Given the description of an element on the screen output the (x, y) to click on. 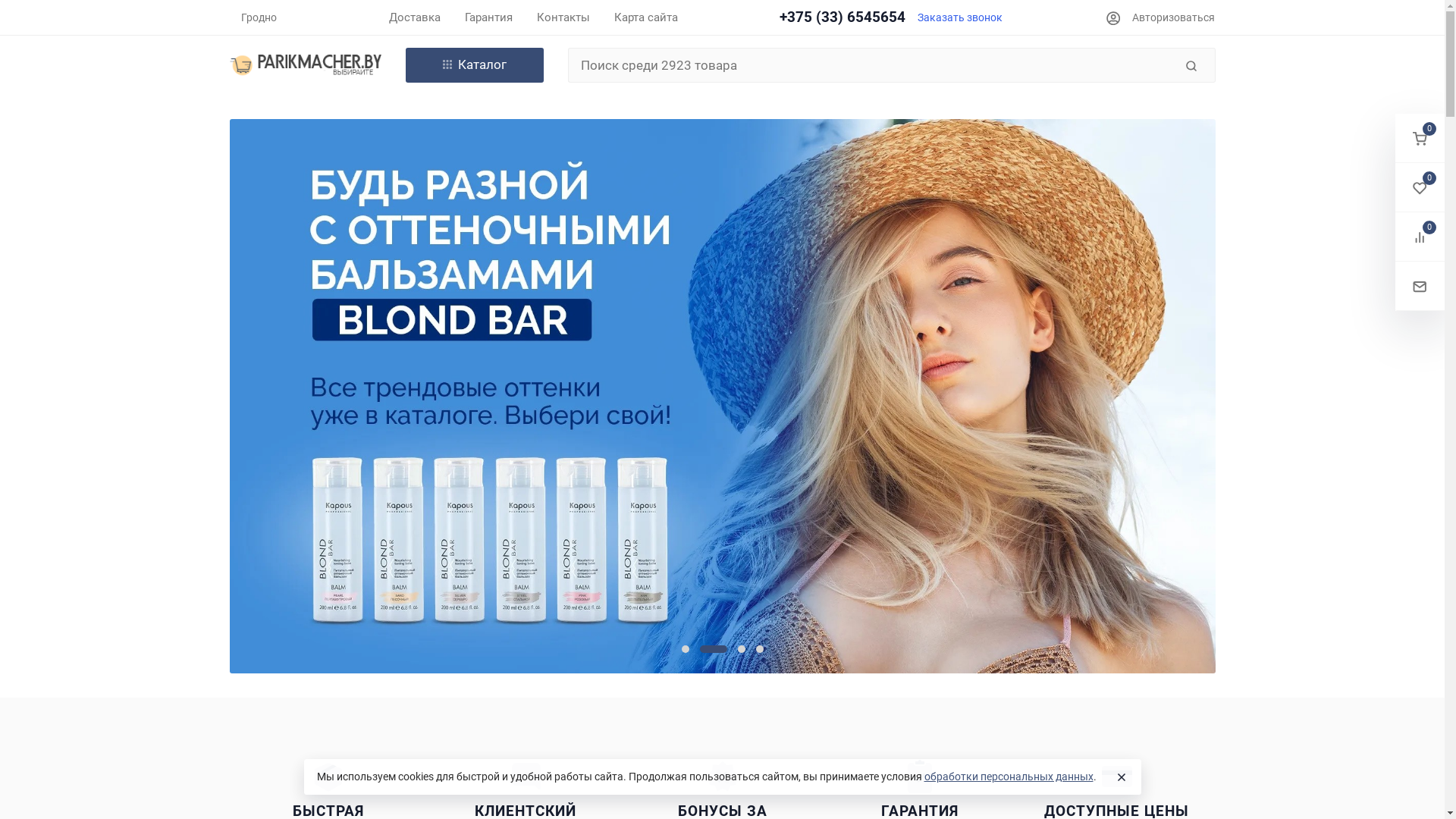
Parikmacher.by Element type: hover (304, 65)
0 Element type: text (1419, 236)
0 Element type: text (1419, 138)
+375 (33) 6545654 Element type: text (842, 16)
0 Element type: text (1419, 187)
